Given the description of an element on the screen output the (x, y) to click on. 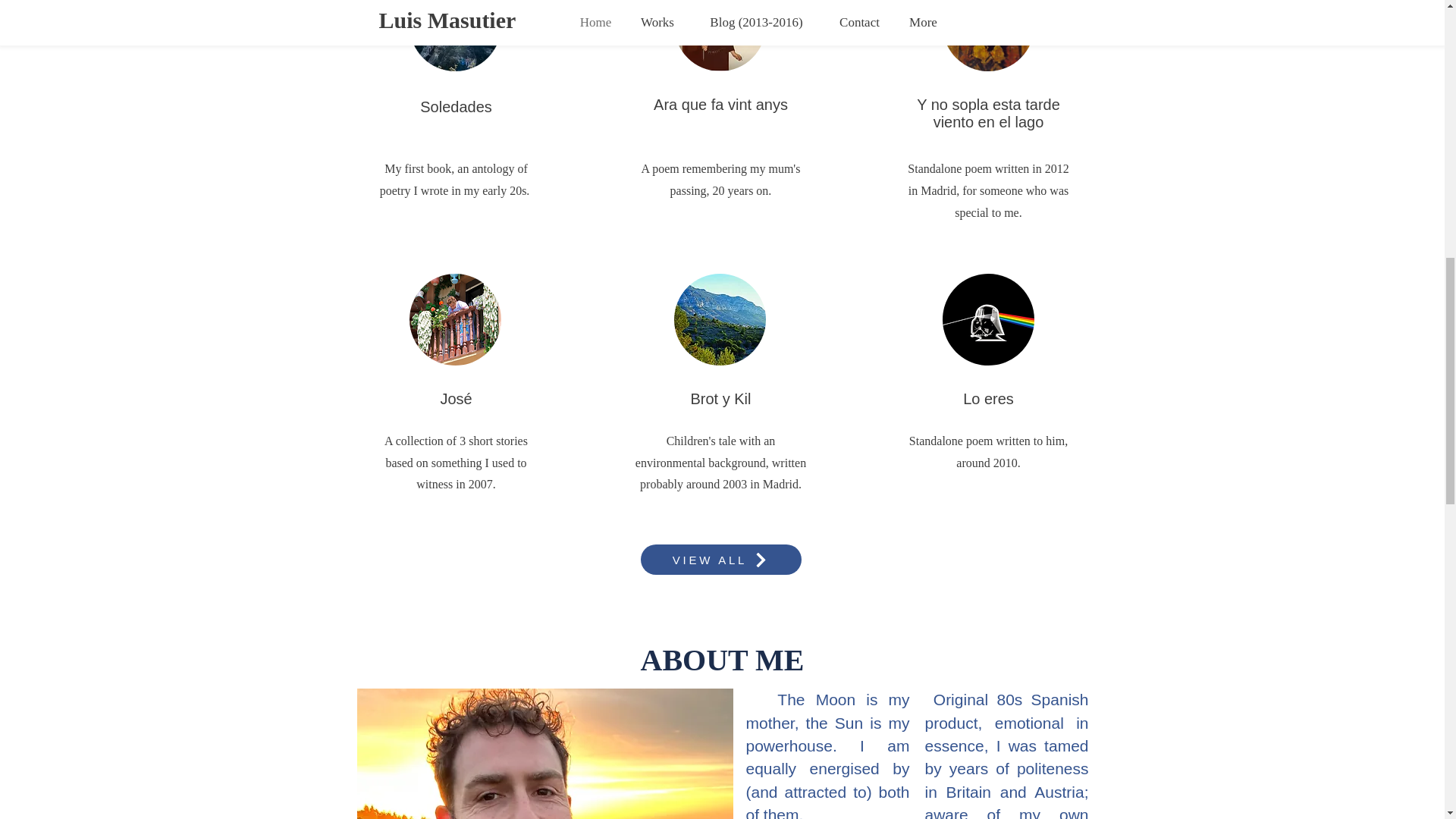
VIEW ALL (720, 559)
